Given the description of an element on the screen output the (x, y) to click on. 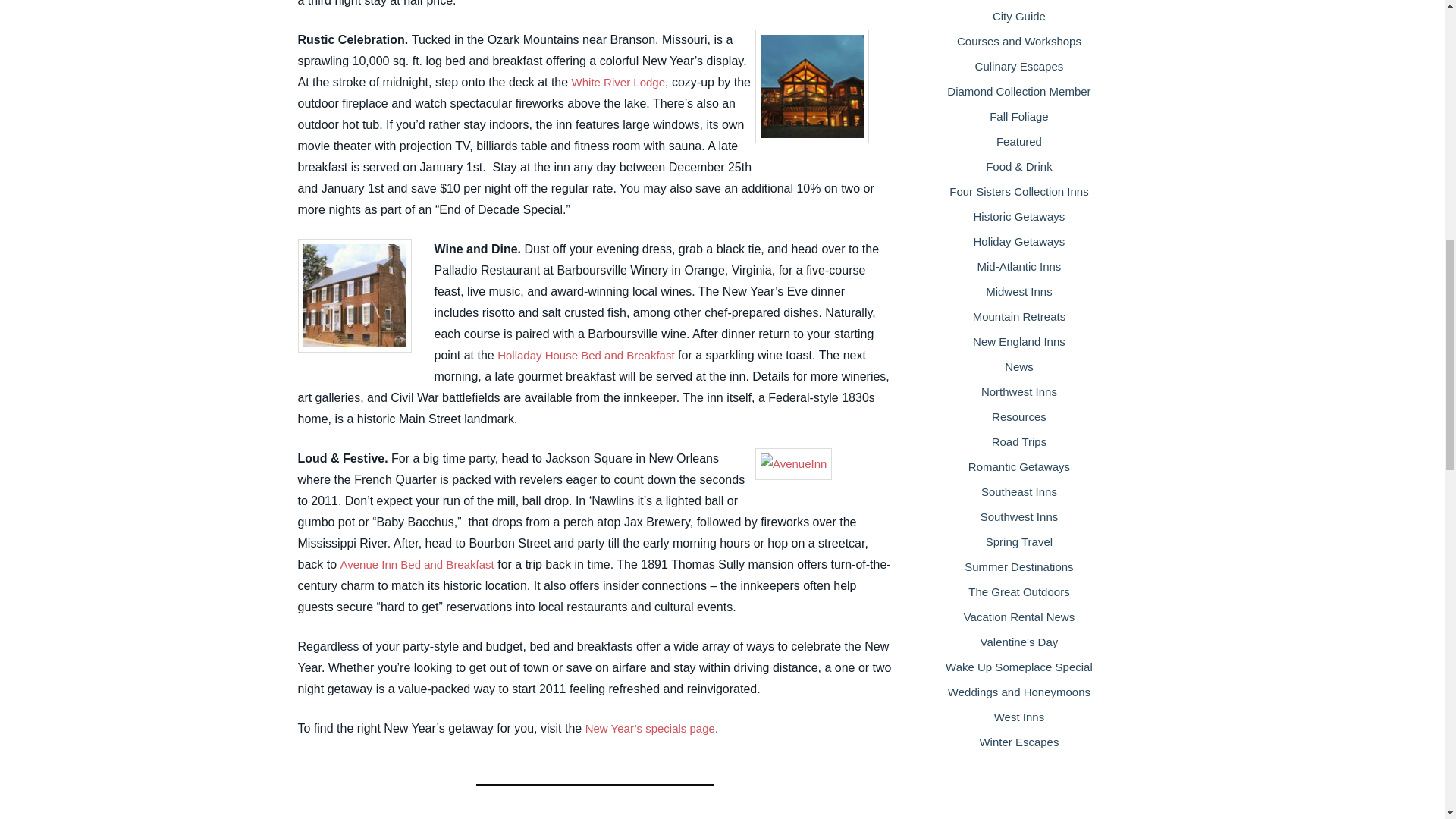
White River Lodge (618, 82)
HolladayHouse (353, 295)
AvenueInn (793, 463)
Avenue Inn Bed and Breakfast (417, 563)
Holladay House Bed and Breakfast (585, 354)
KONICA MINOLTA DIGITAL CAMERA (812, 86)
City Guide (1018, 15)
Culinary Escapes (1019, 65)
Courses and Workshops (1018, 41)
